Given the description of an element on the screen output the (x, y) to click on. 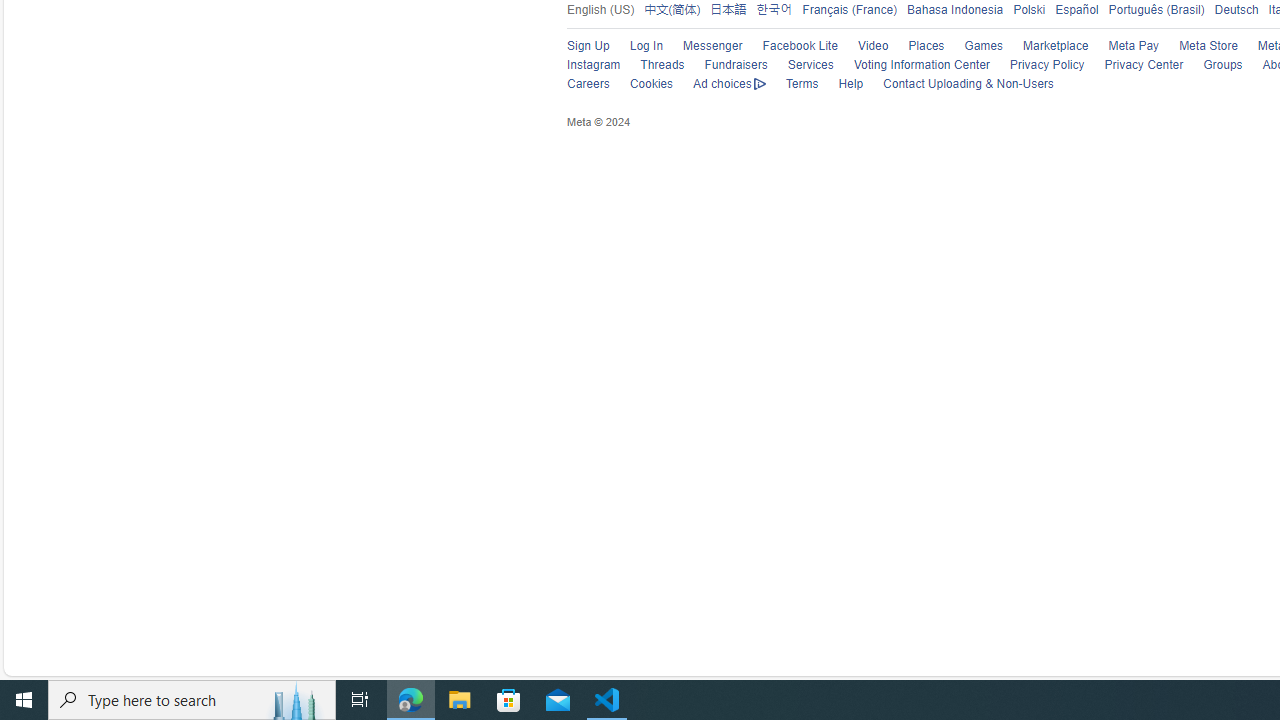
Instagram (593, 65)
Meta Store (1197, 46)
Video (863, 46)
Sign Up (578, 46)
Places (925, 45)
Terms (792, 84)
Deutsch (1231, 9)
Games (973, 46)
Groups (1222, 65)
Privacy Policy (1046, 65)
Sign Up (588, 45)
Video (873, 45)
Polski (1024, 9)
